Given the description of an element on the screen output the (x, y) to click on. 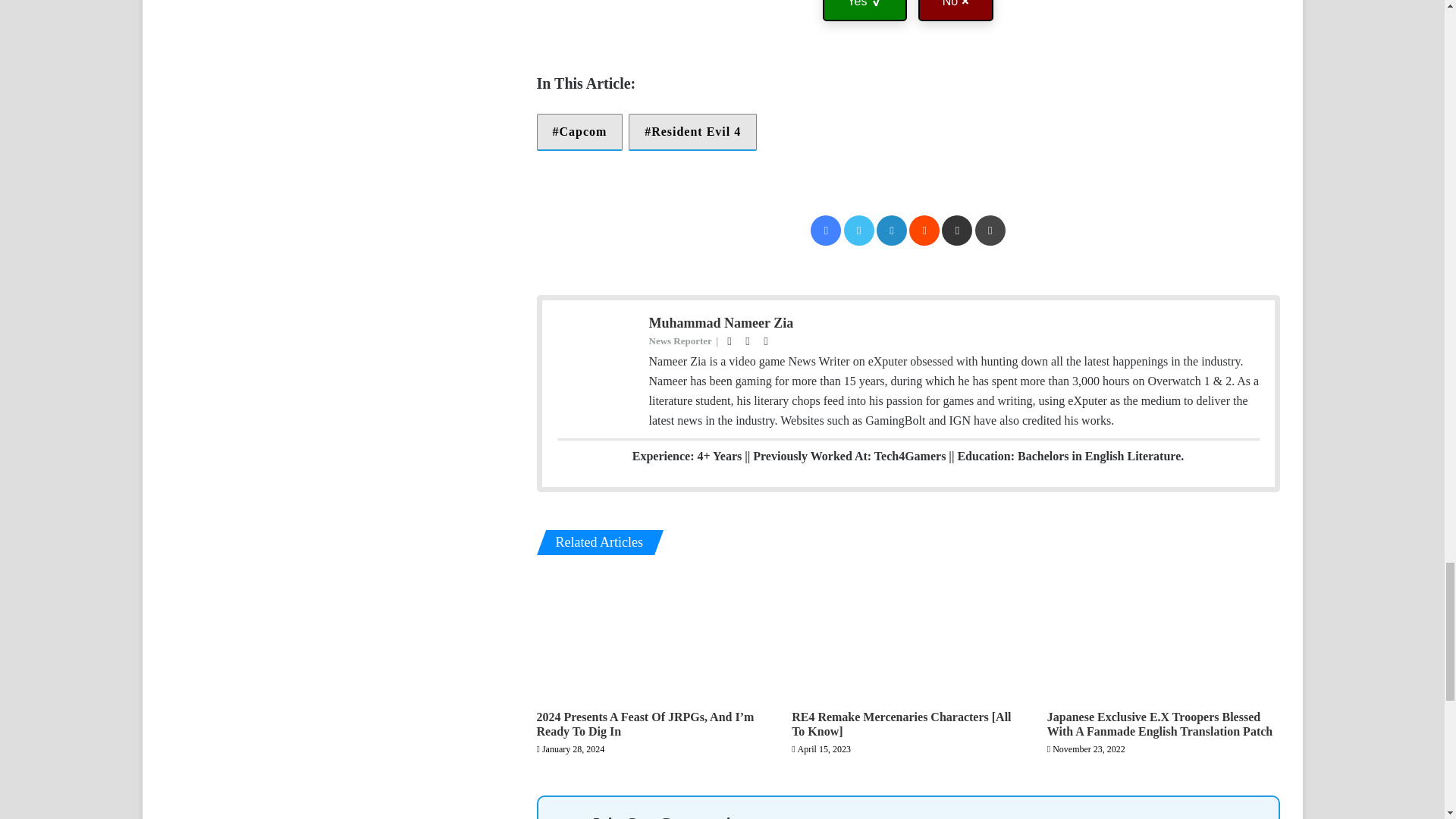
Print (990, 230)
Share via Email (957, 230)
Reddit (923, 230)
Facebook (825, 230)
Twitter (859, 230)
LinkedIn (891, 230)
